Given the description of an element on the screen output the (x, y) to click on. 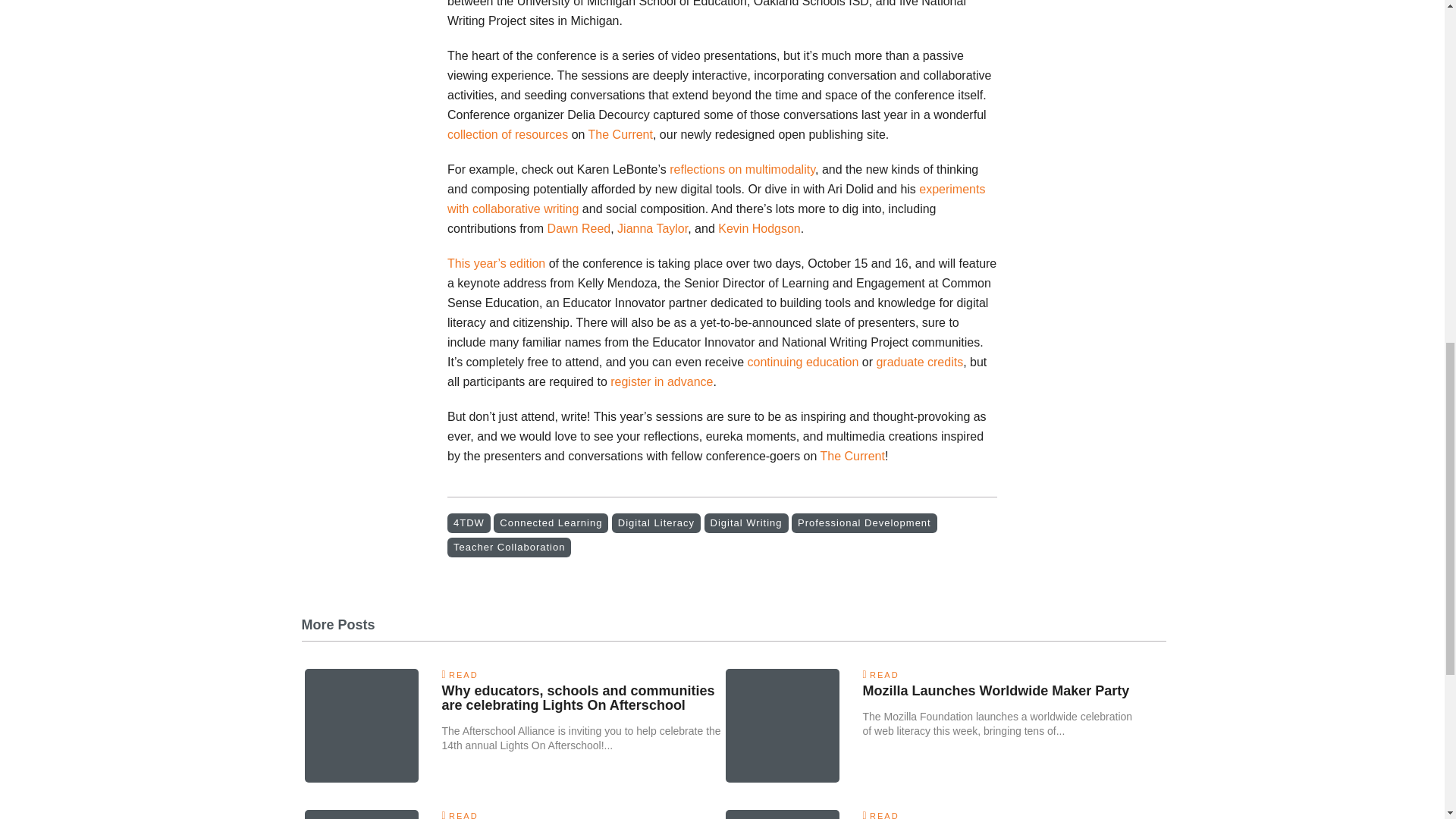
Dawn Reed (579, 228)
continuing education (803, 361)
The Current (620, 133)
Digital Writing (746, 523)
register in advance (661, 381)
Connected Learning (550, 523)
Professional Development (864, 523)
Kevin Hodgson (758, 228)
Jianna Taylor (652, 228)
Digital Literacy (655, 523)
collection of resources (506, 133)
Teacher Collaboration (508, 547)
The Current (853, 455)
4TDW (468, 523)
experiments with collaborative writing (715, 198)
